Given the description of an element on the screen output the (x, y) to click on. 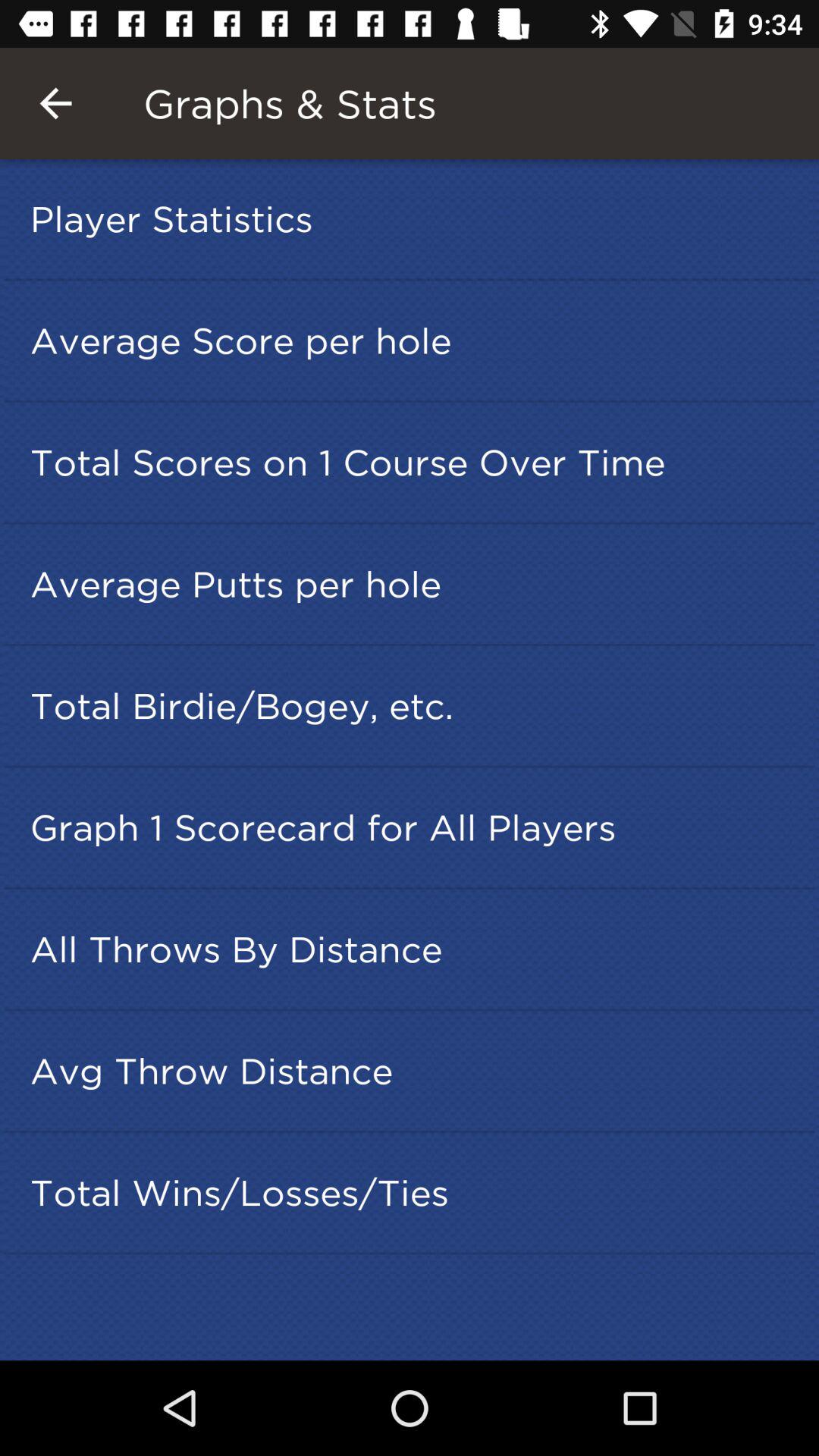
open the icon to the left of graphs & stats (55, 103)
